Given the description of an element on the screen output the (x, y) to click on. 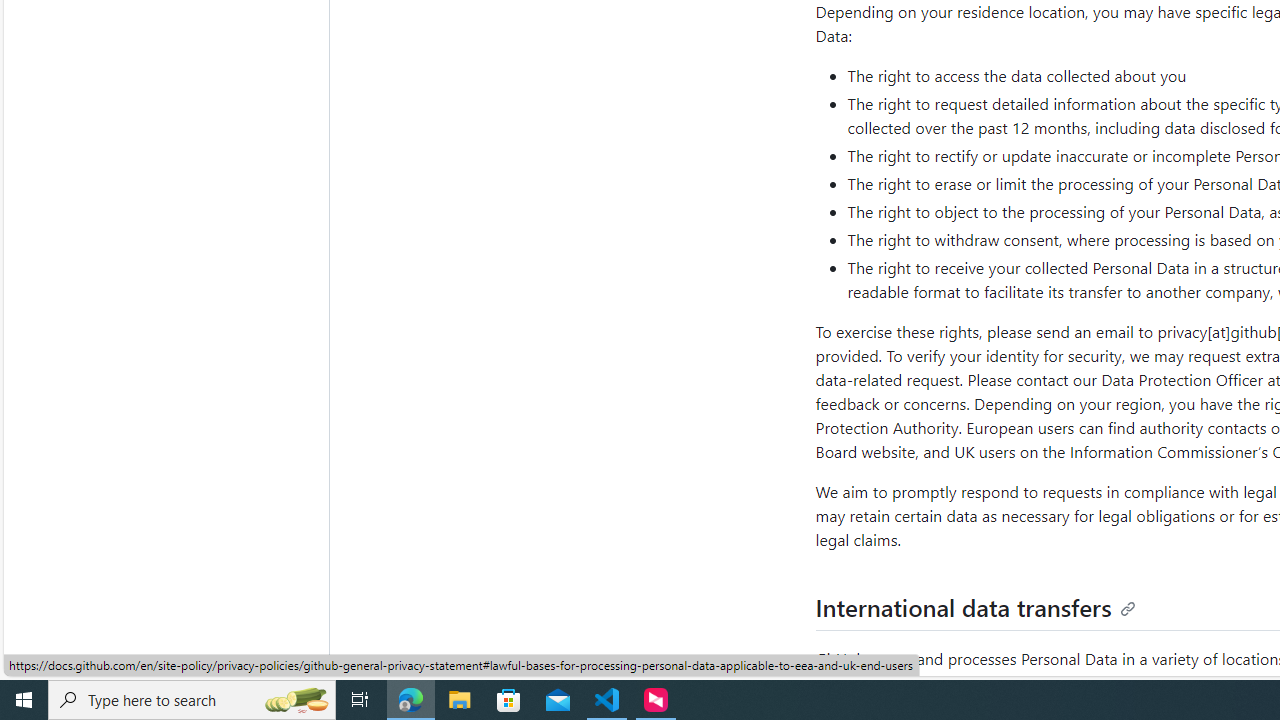
International data transfers (975, 607)
